Given the description of an element on the screen output the (x, y) to click on. 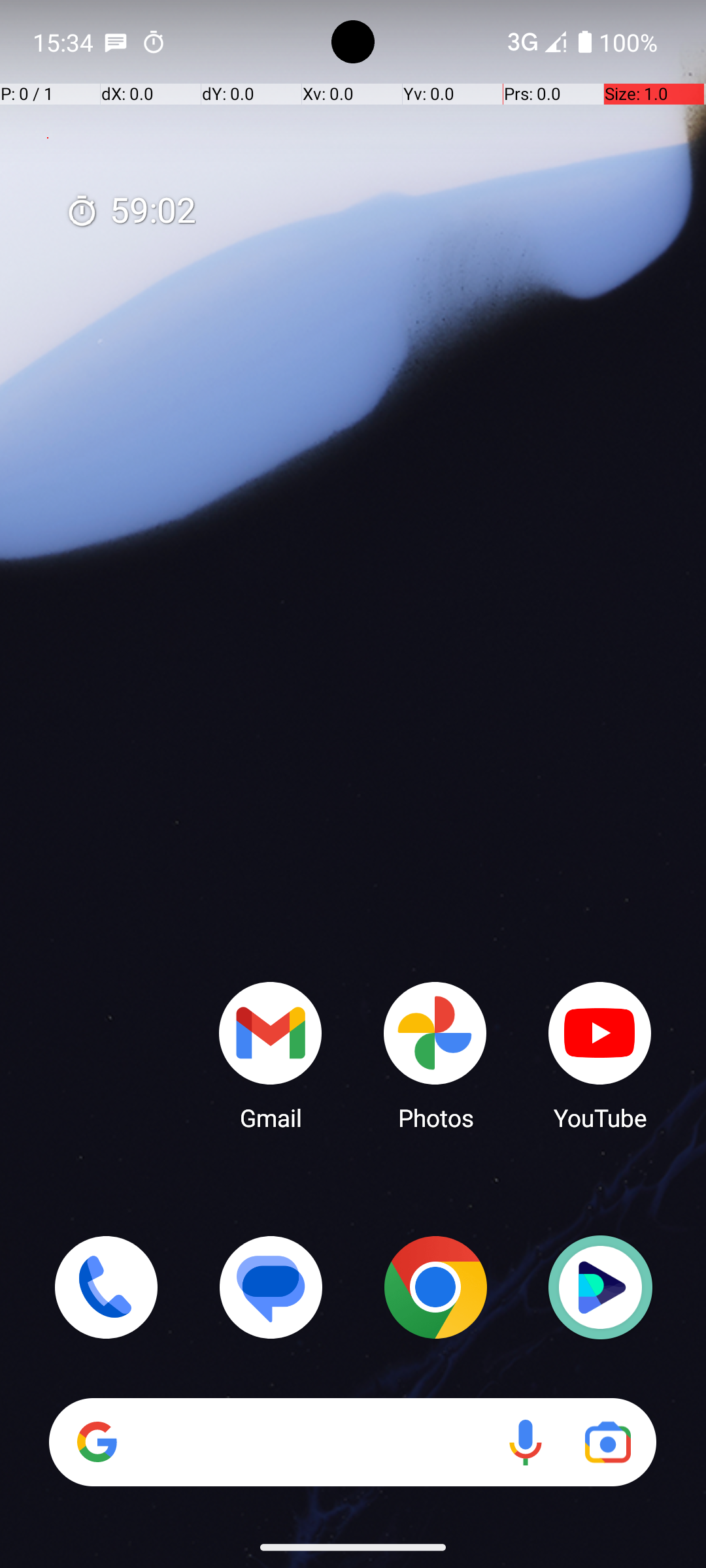
Retro Music Element type: android.widget.TextView (599, 1287)
59:03 Element type: android.widget.TextView (130, 210)
